Given the description of an element on the screen output the (x, y) to click on. 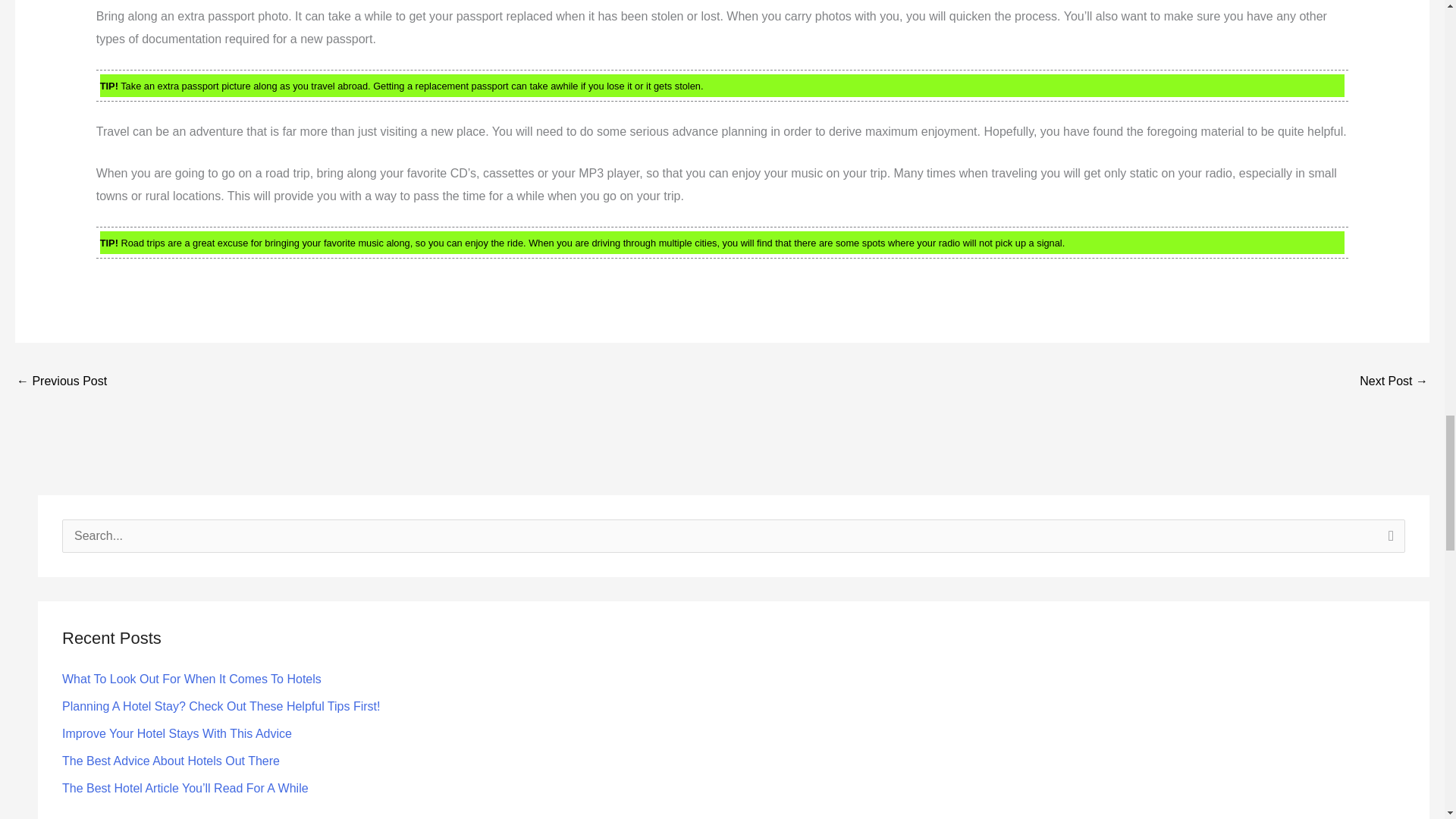
Are You Ready For Camping Out? Read This! (1393, 382)
Take Some Time Out To Consider Hotels (61, 382)
Planning A Hotel Stay? Check Out These Helpful Tips First! (221, 706)
What To Look Out For When It Comes To Hotels (191, 678)
Improve Your Hotel Stays With This Advice (177, 733)
The Best Advice About Hotels Out There (170, 760)
